Given the description of an element on the screen output the (x, y) to click on. 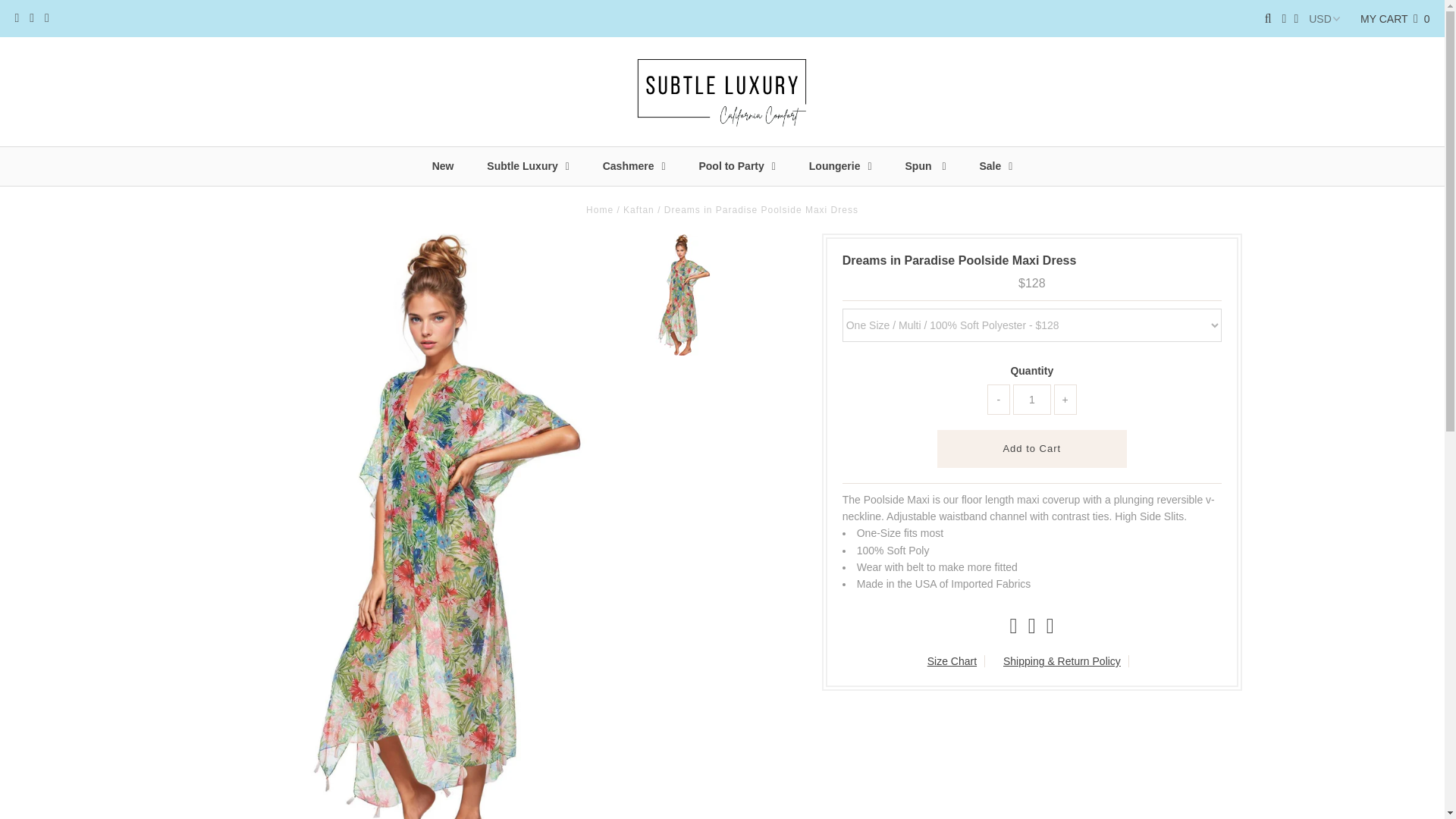
Pool to Party (736, 166)
Add to Cart (1031, 448)
1 (1032, 399)
Sale (995, 166)
Spun (924, 166)
MY CART    0 (1394, 19)
Loungerie (839, 166)
Cashmere (634, 166)
Kaftan (638, 209)
Home (599, 209)
New (442, 166)
Subtle Luxury (527, 166)
